Given the description of an element on the screen output the (x, y) to click on. 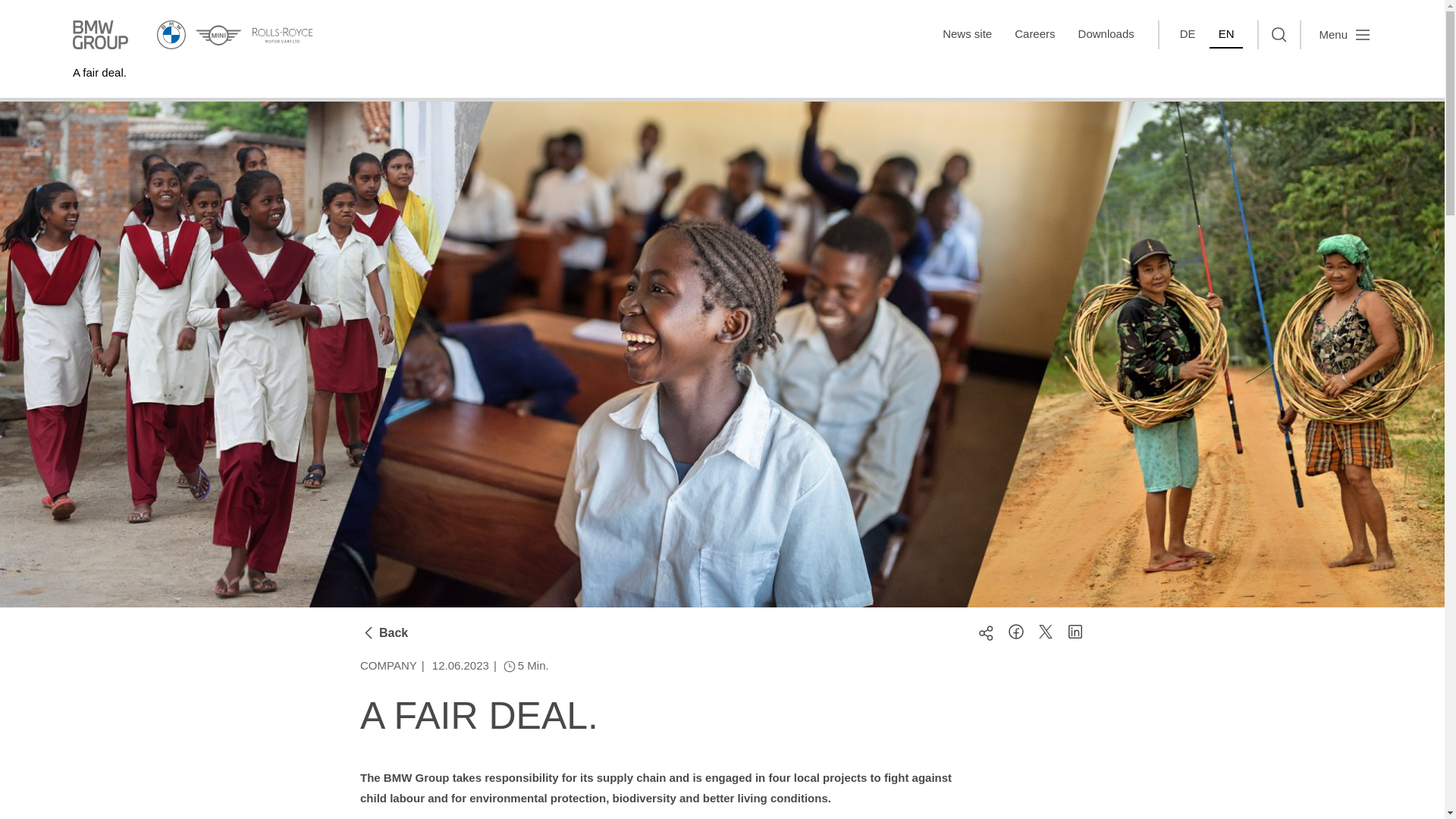
DE (1187, 34)
Careers (1035, 34)
EN (1226, 34)
News site (967, 34)
Downloads (1105, 34)
